Given the description of an element on the screen output the (x, y) to click on. 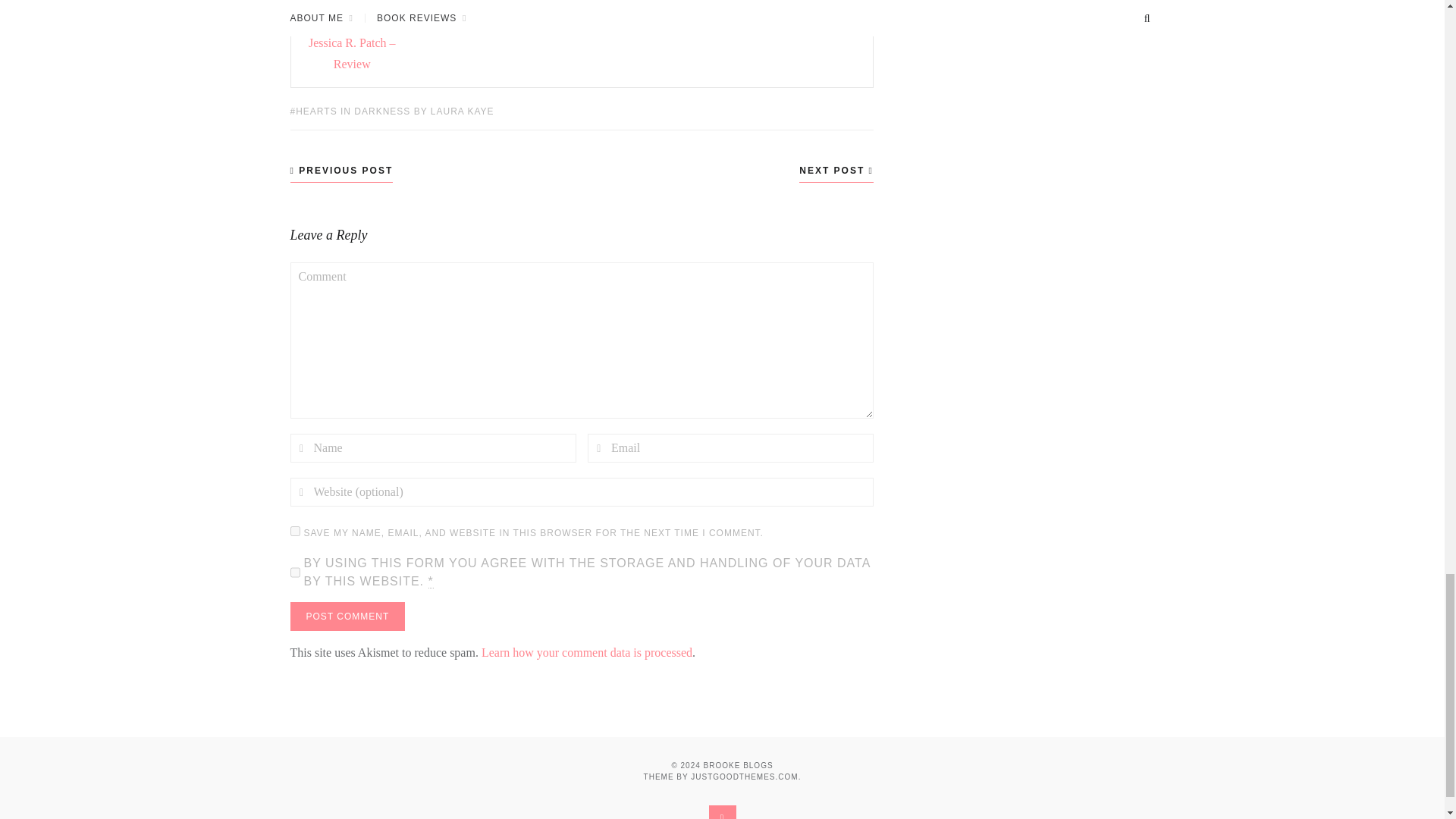
yes (294, 531)
Post Comment (346, 615)
